Given the description of an element on the screen output the (x, y) to click on. 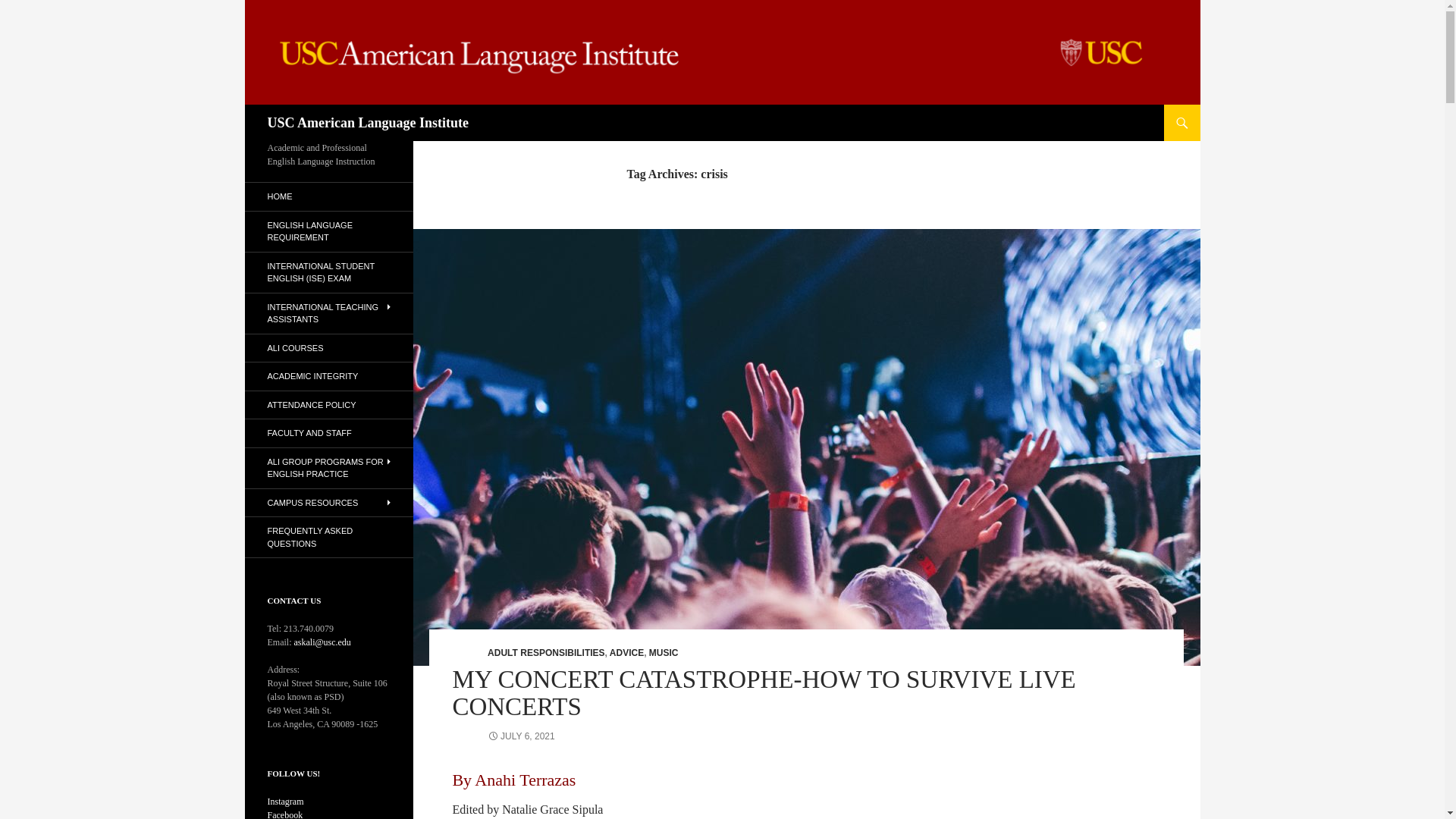
ADVICE (626, 652)
JULY 6, 2021 (520, 736)
MUSIC (663, 652)
USC American Language Institute (367, 122)
ADULT RESPONSIBILITIES (545, 652)
MY CONCERT CATASTROPHE-HOW TO SURVIVE LIVE CONCERTS (763, 692)
